Given the description of an element on the screen output the (x, y) to click on. 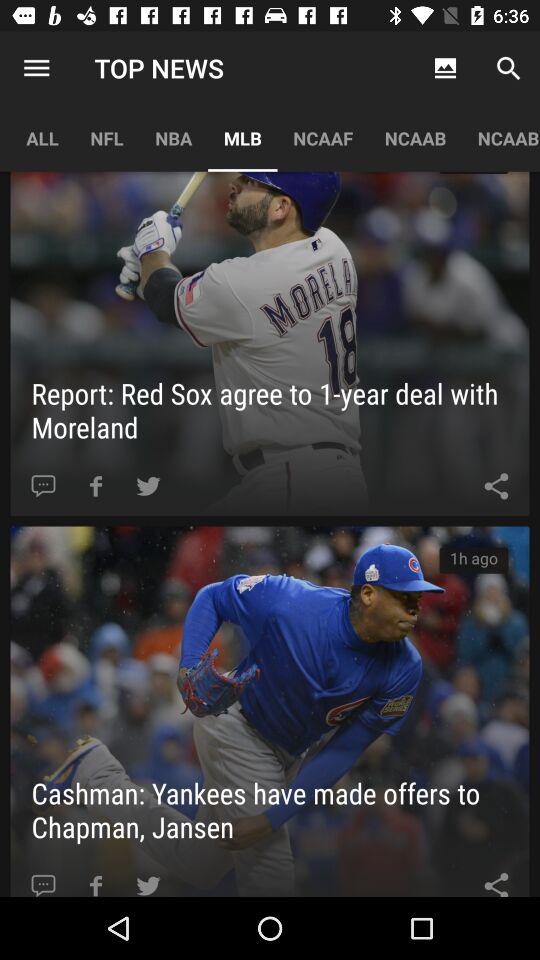
open the icon next to the ncaaf item (242, 138)
